Given the description of an element on the screen output the (x, y) to click on. 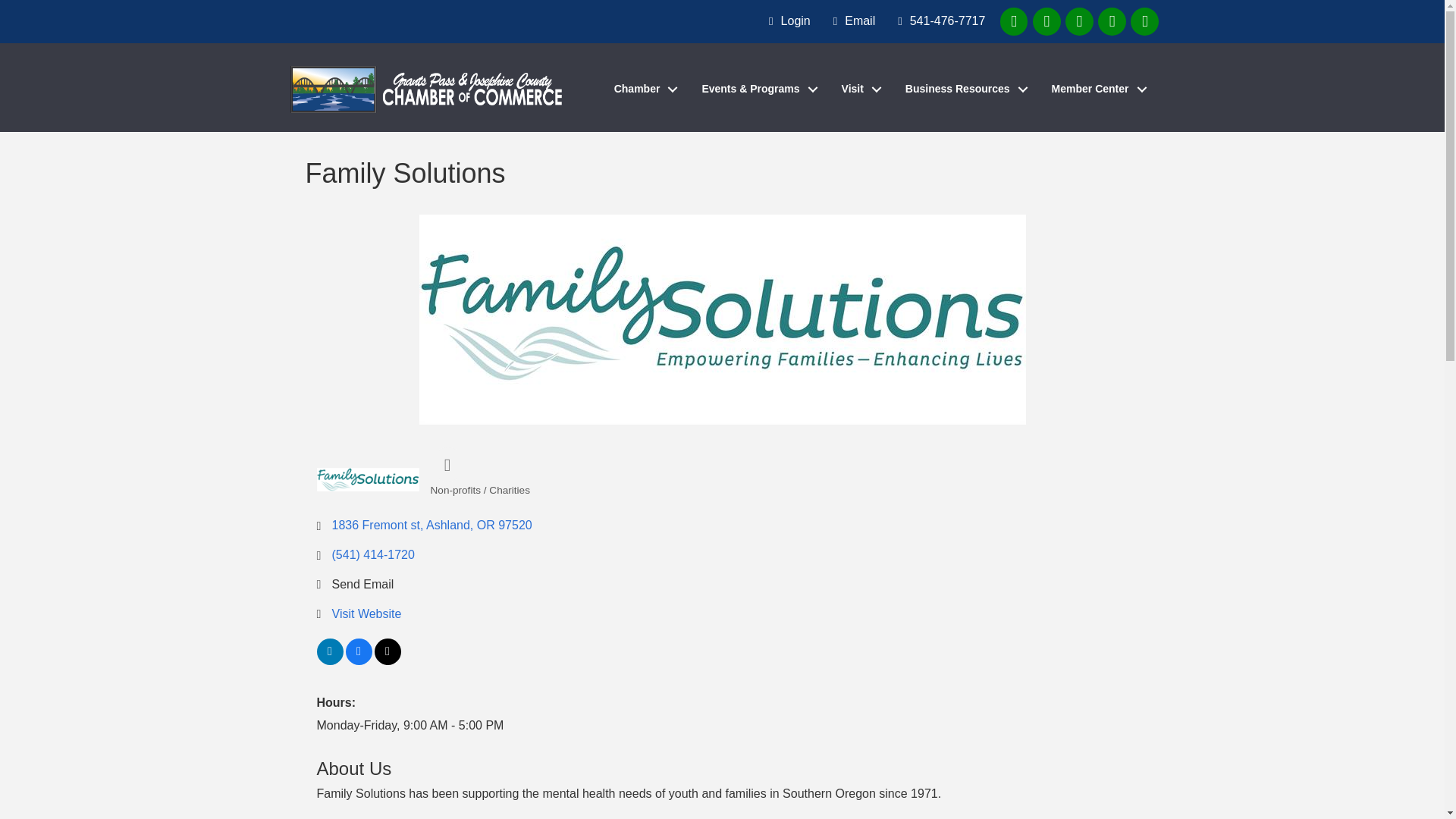
Chamber (641, 89)
Login (785, 21)
Family Solutions (722, 319)
Visit (858, 89)
Family Solutions (368, 479)
View on LinkedIn (330, 660)
View on Twitter (387, 660)
View on Facebook (359, 660)
GrantsPass-white-text (427, 89)
Business Resources (962, 89)
541-476-7717 (937, 21)
Email (850, 21)
